Given the description of an element on the screen output the (x, y) to click on. 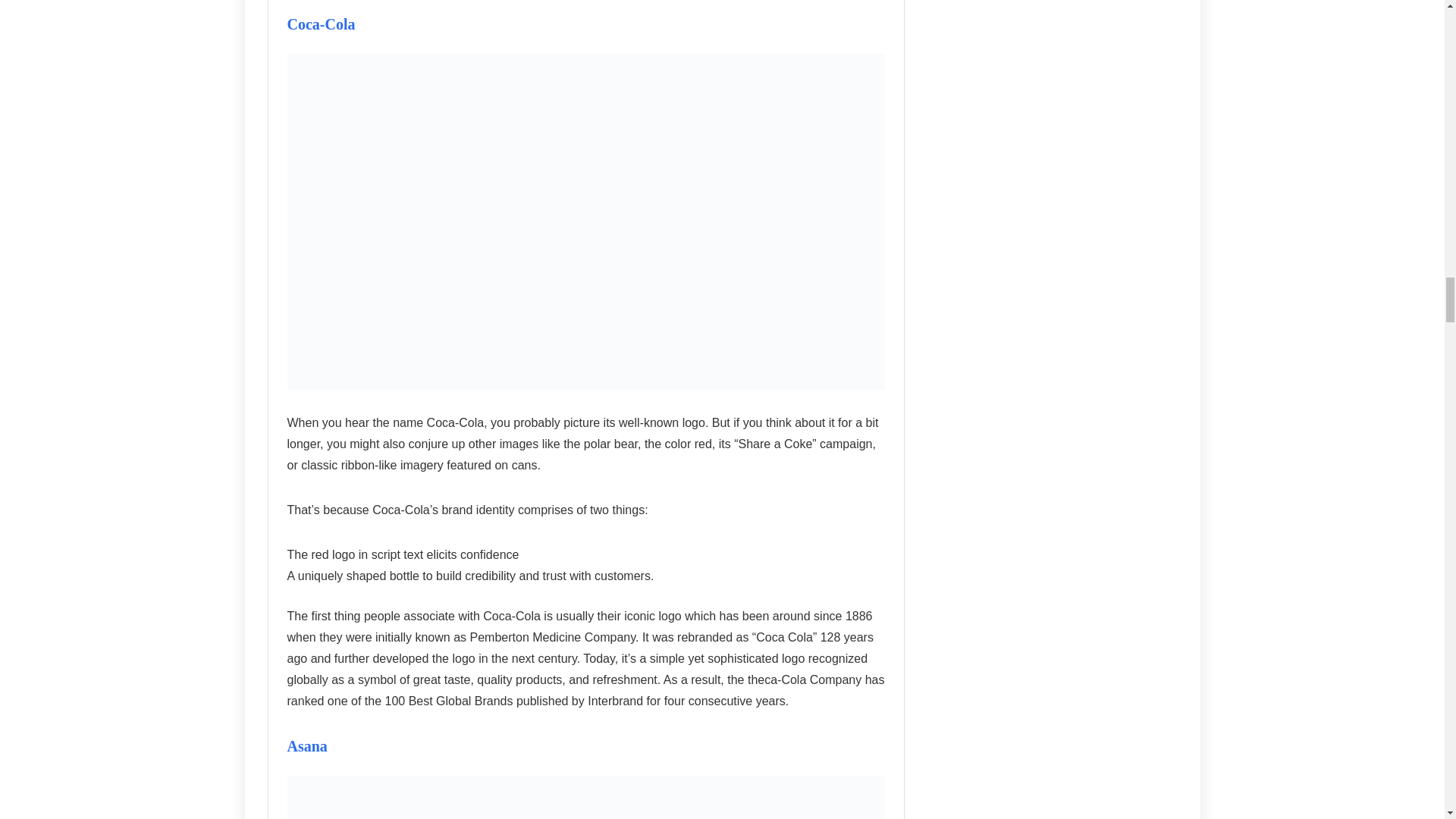
Brand Identity: The Complete Guide 6 (584, 797)
Coca-Cola (320, 23)
Asana (306, 745)
